Given the description of an element on the screen output the (x, y) to click on. 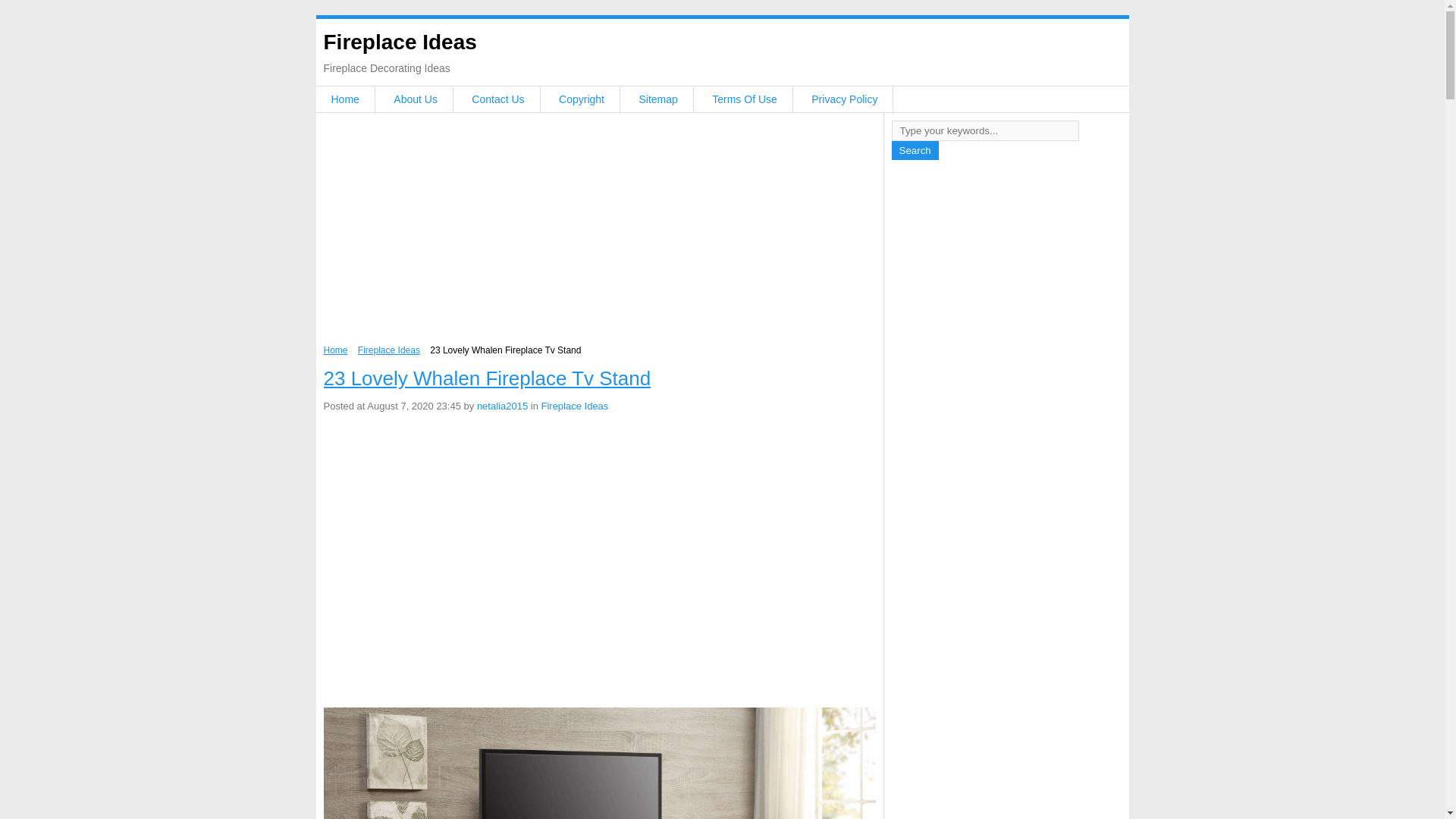
About Us (415, 99)
Fireplace Ideas (574, 405)
23 Lovely Whalen Fireplace Tv Stand (486, 377)
Home (344, 99)
Home (335, 349)
Terms Of Use (744, 99)
netalia2015 (502, 405)
Privacy Policy (843, 99)
Copyright (581, 99)
Advertisement (599, 532)
Advertisement (599, 232)
Fireplace Ideas (399, 42)
Search (915, 149)
Fireplace Ideas (389, 349)
Contact Us (497, 99)
